Given the description of an element on the screen output the (x, y) to click on. 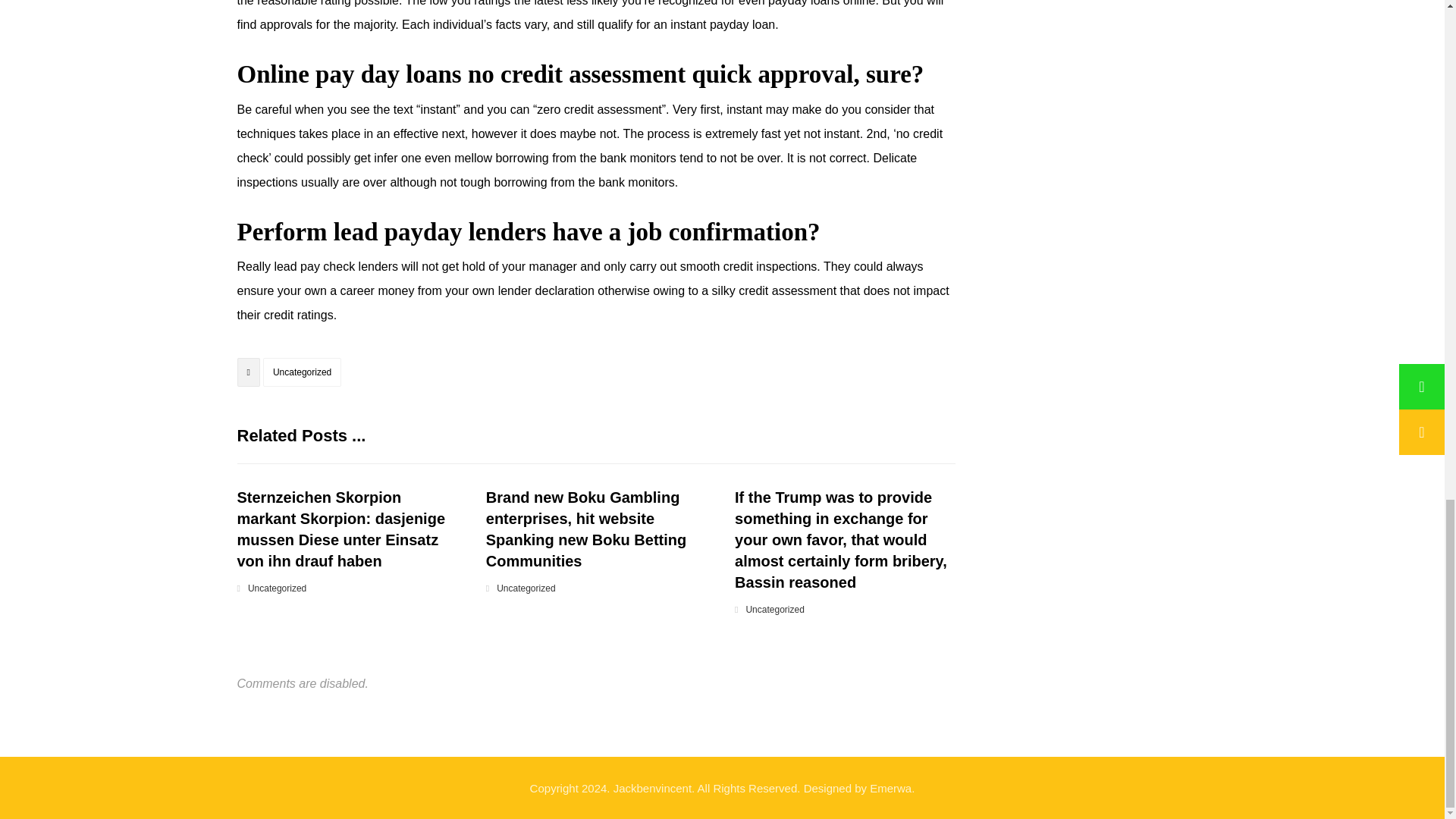
Uncategorized (525, 588)
Uncategorized (301, 371)
Uncategorized (276, 588)
Uncategorized (774, 609)
